Given the description of an element on the screen output the (x, y) to click on. 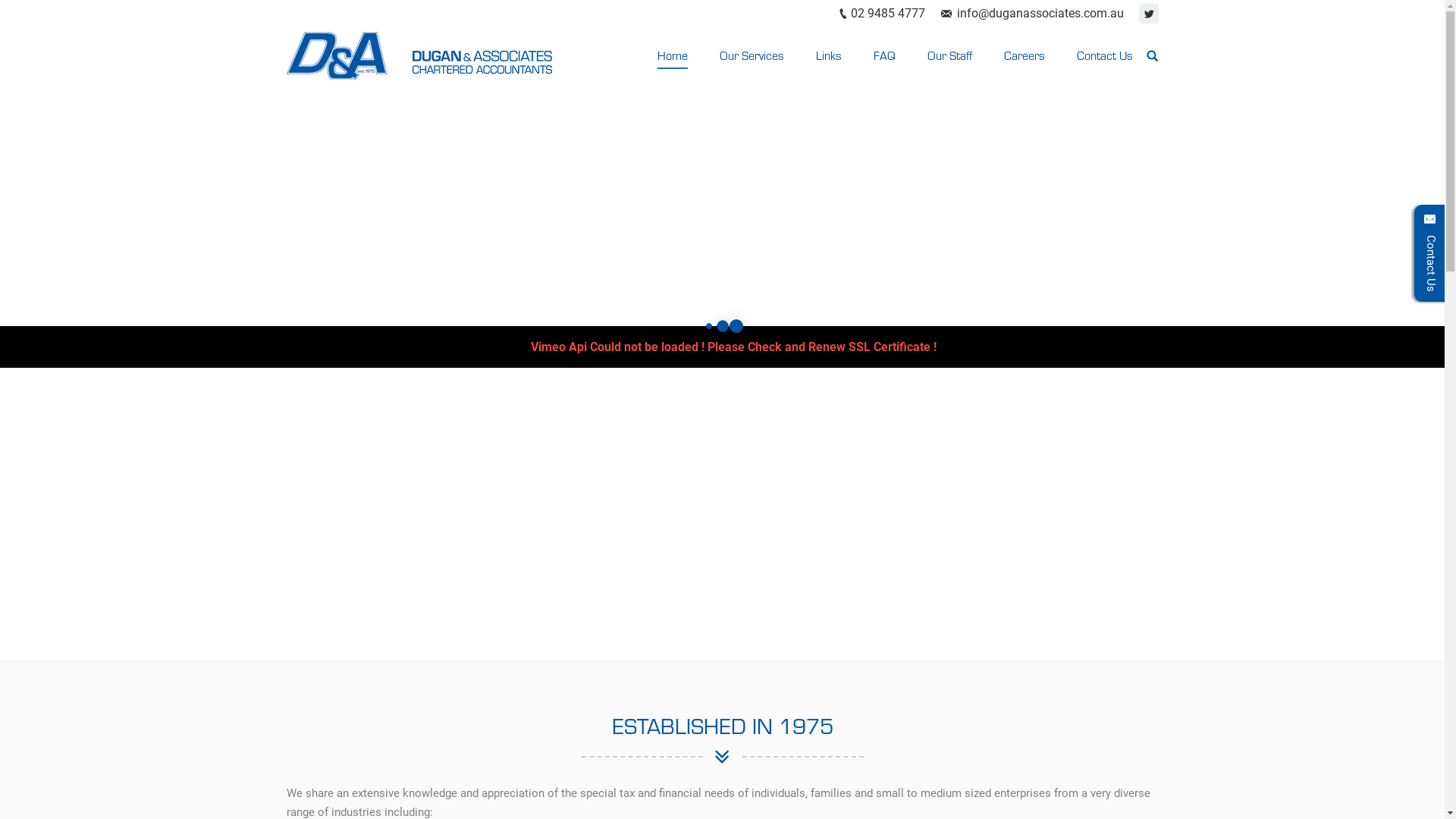
Links Element type: text (829, 54)
  Element type: text (1152, 55)
Twitter Element type: text (1148, 13)
info@duganassociates.com.au Element type: text (1040, 13)
Contact Us Element type: text (1106, 54)
Our Staff Element type: text (950, 54)
Home Element type: text (673, 54)
Careers Element type: text (1026, 54)
FAQ Element type: text (885, 54)
02 9485 4777 Element type: text (887, 13)
Go! Element type: text (20, 14)
Our Services Element type: text (752, 54)
